Given the description of an element on the screen output the (x, y) to click on. 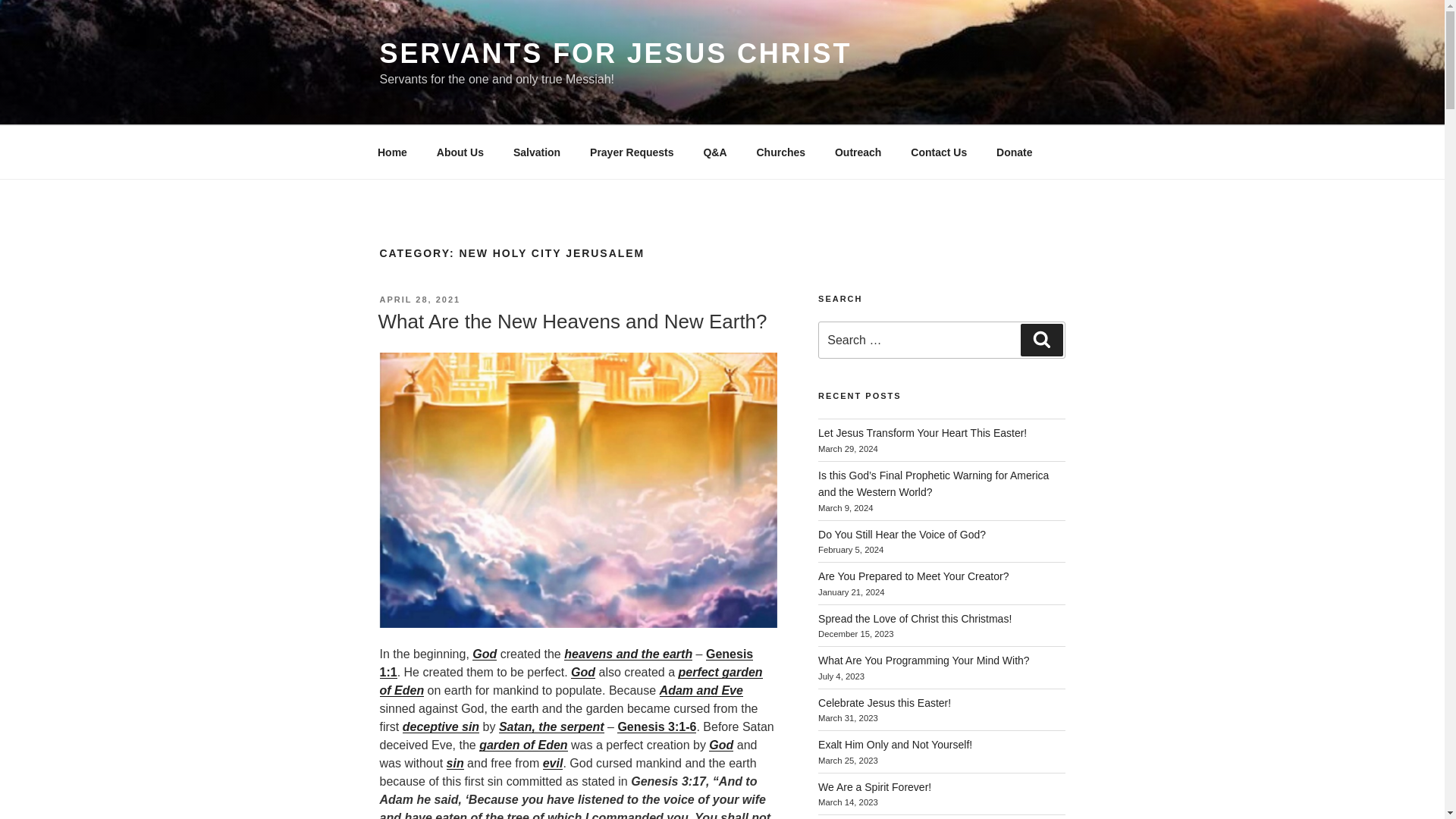
deceptive sin (441, 726)
Genesis 3:1-6 (656, 726)
God (721, 744)
Outreach (857, 151)
Adam and Eve (700, 689)
Home (392, 151)
Contact Us (938, 151)
SERVANTS FOR JESUS CHRIST (614, 52)
Churches (780, 151)
sin (455, 762)
